Given the description of an element on the screen output the (x, y) to click on. 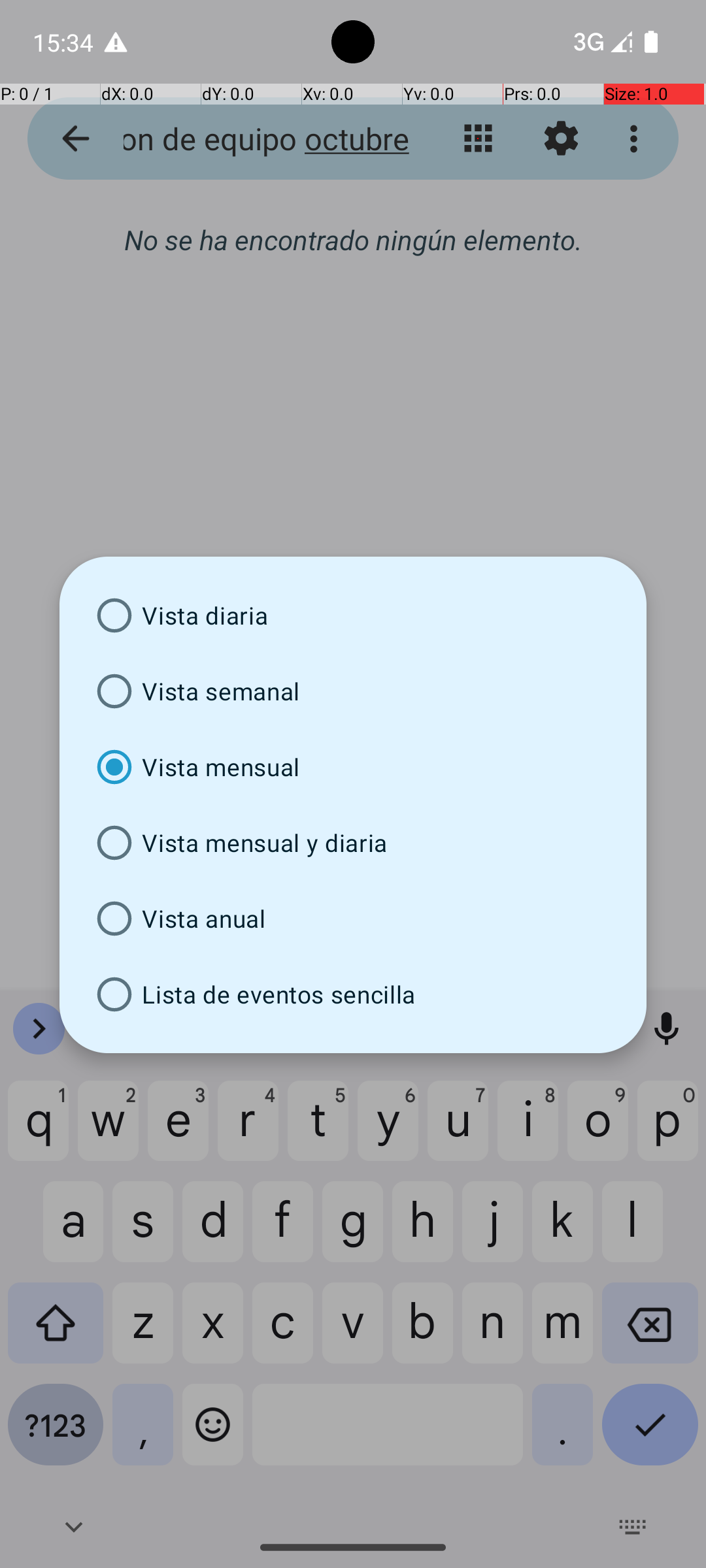
Vista diaria Element type: android.widget.RadioButton (352, 615)
Vista semanal Element type: android.widget.RadioButton (352, 691)
Vista mensual Element type: android.widget.RadioButton (352, 766)
Vista mensual y diaria Element type: android.widget.RadioButton (352, 842)
Vista anual Element type: android.widget.RadioButton (352, 918)
Lista de eventos sencilla Element type: android.widget.RadioButton (352, 994)
